Given the description of an element on the screen output the (x, y) to click on. 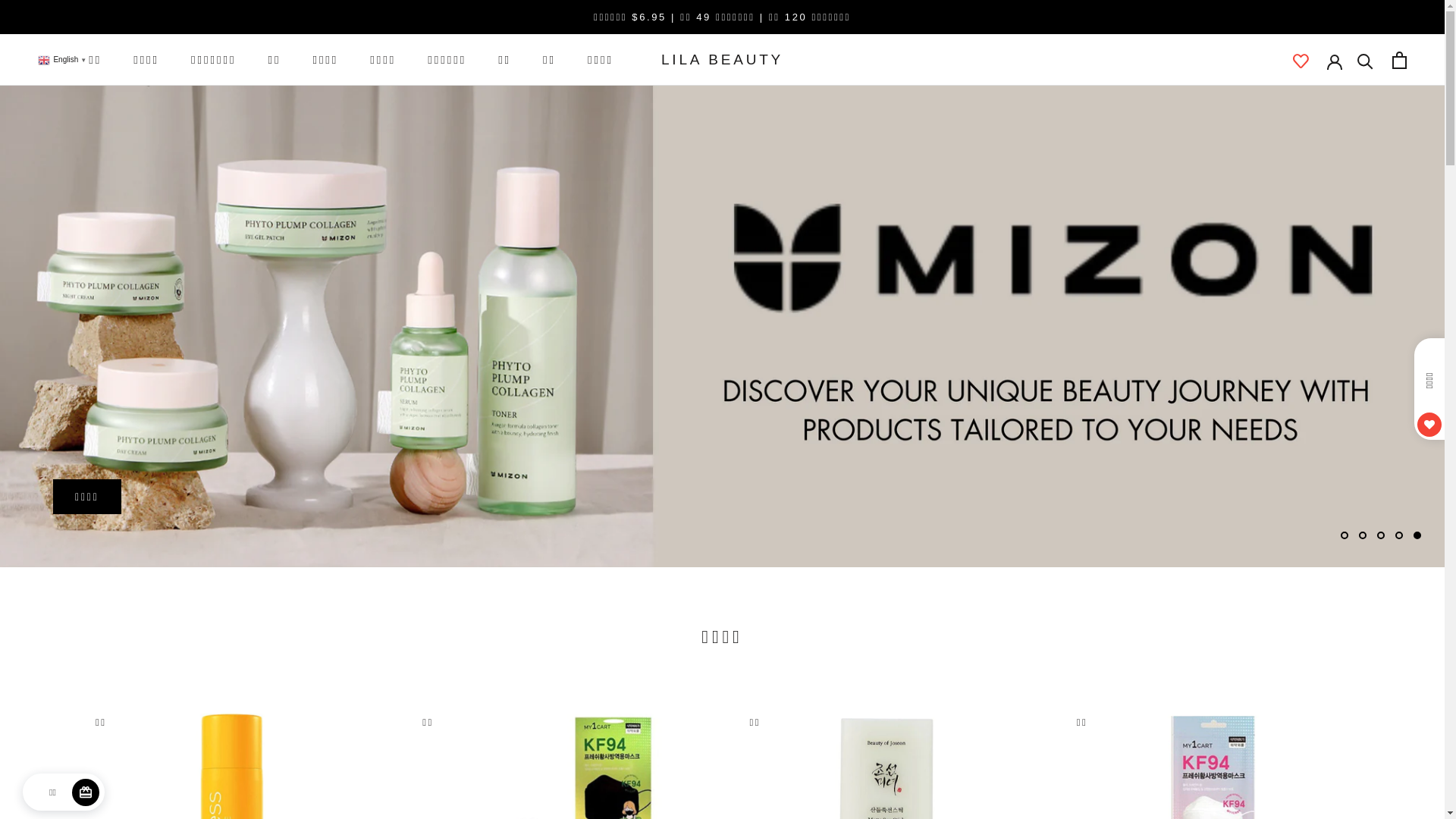
LILA BEAUTY Element type: text (722, 59)
